Given the description of an element on the screen output the (x, y) to click on. 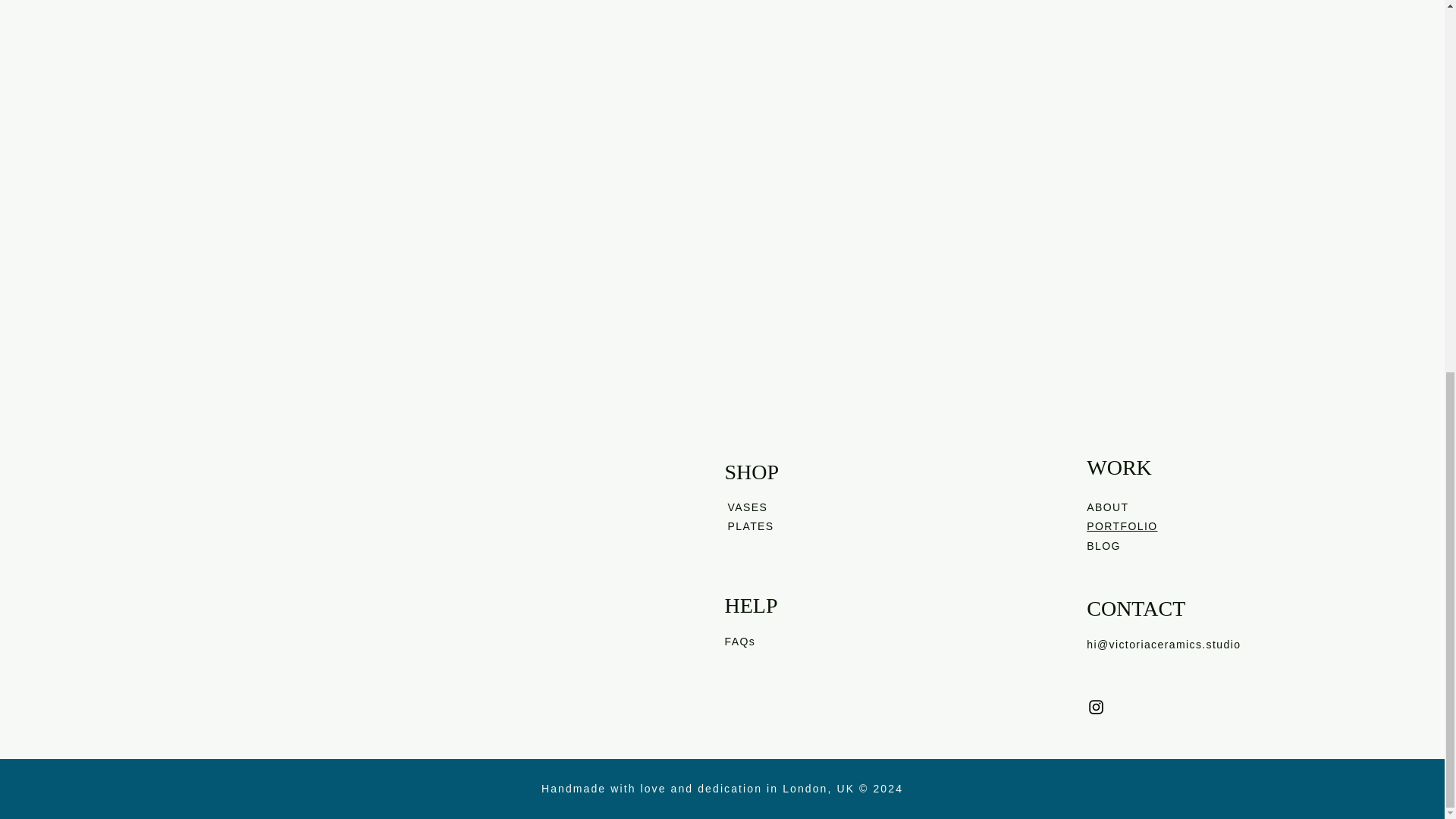
VASES (748, 507)
ABOUT (1107, 507)
HELP (751, 605)
PORTFOLIO (1121, 526)
BLOG (1103, 545)
PLATES (751, 526)
CONTACT (1135, 608)
SHOP (751, 472)
FAQs (740, 641)
